Given the description of an element on the screen output the (x, y) to click on. 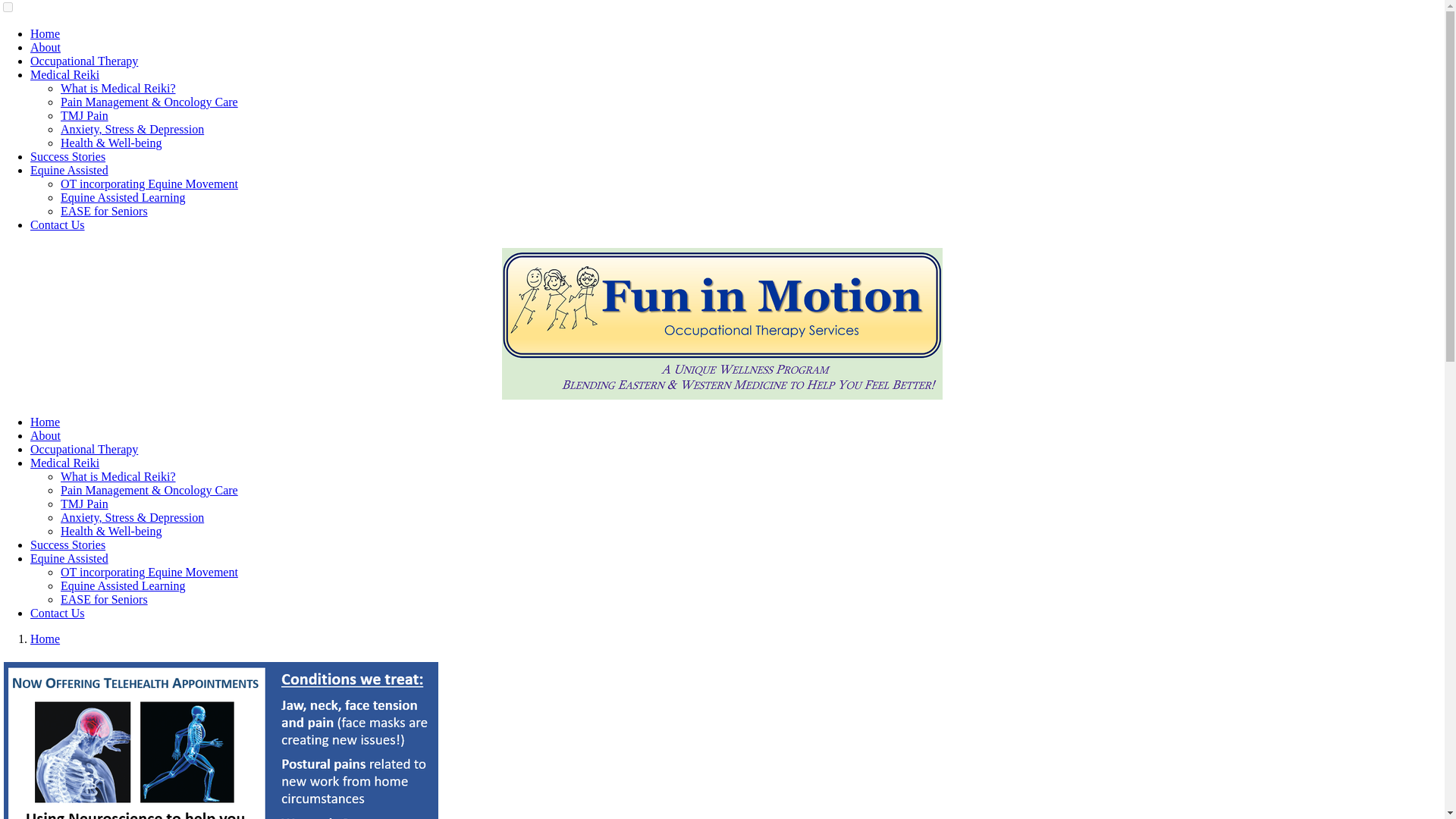
Equine Assisted (68, 169)
Equine Assisted Learning (122, 585)
What is Medical Reiki? (118, 476)
EASE for Seniors (104, 210)
EASE for Seniors (104, 599)
About (45, 47)
About (45, 435)
Success Stories (67, 155)
Medical Reiki (64, 462)
OT incorporating Equine Movement (149, 183)
Occupational Therapy (84, 449)
Equine Assisted Learning (122, 196)
What is Medical Reiki? (118, 88)
Occupational Therapy (84, 60)
on (7, 7)
